Given the description of an element on the screen output the (x, y) to click on. 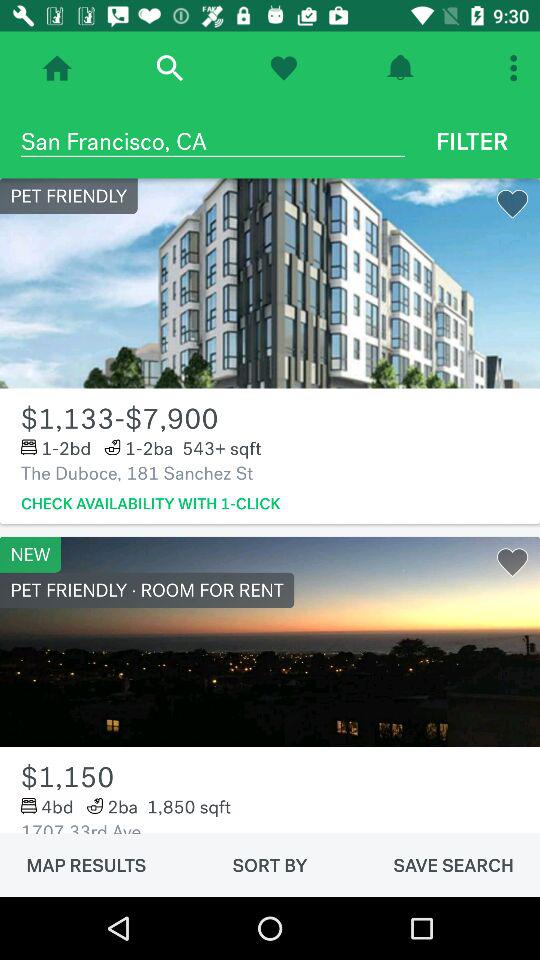
choose item below the duboce 181 item (150, 503)
